Given the description of an element on the screen output the (x, y) to click on. 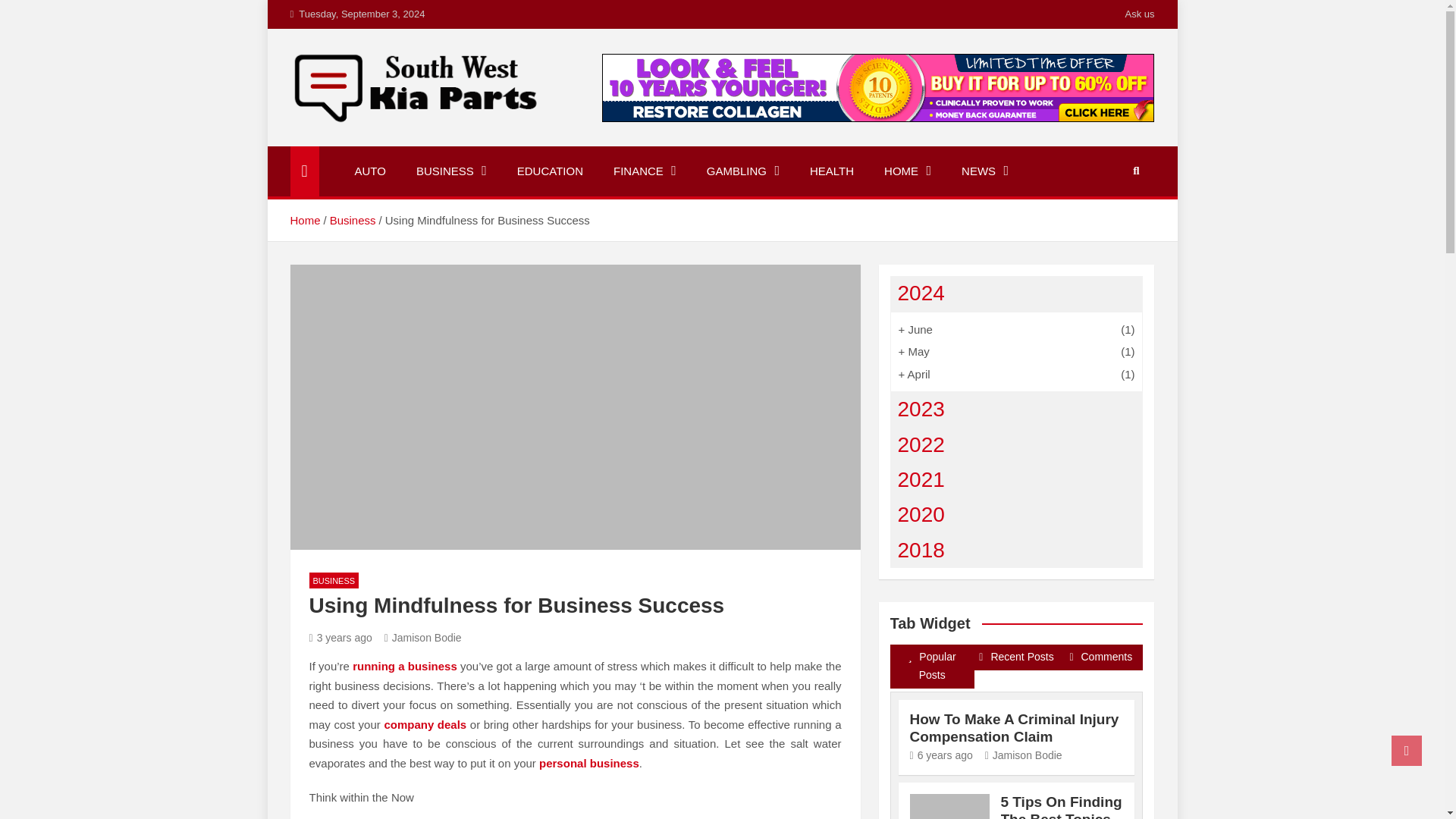
HOME (907, 171)
EDUCATION (550, 171)
Using Mindfulness for Business Success (340, 636)
How To Make A Criminal Injury Compensation Claim (941, 755)
Go to Top (1406, 750)
Ask us (1139, 13)
NEWS (984, 171)
South West Kia Parts (442, 142)
HEALTH (831, 171)
AUTO (370, 171)
